Given the description of an element on the screen output the (x, y) to click on. 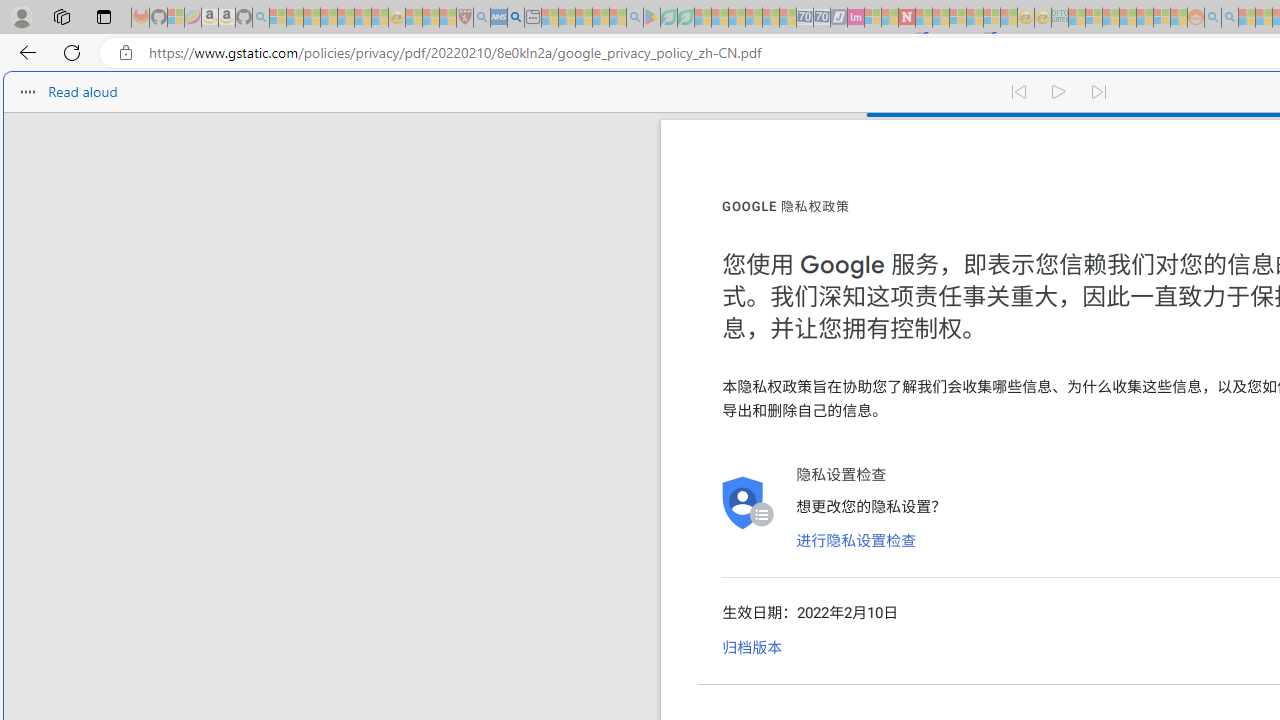
Continue to read aloud (Ctrl+Shift+U) (1059, 92)
